Given the description of an element on the screen output the (x, y) to click on. 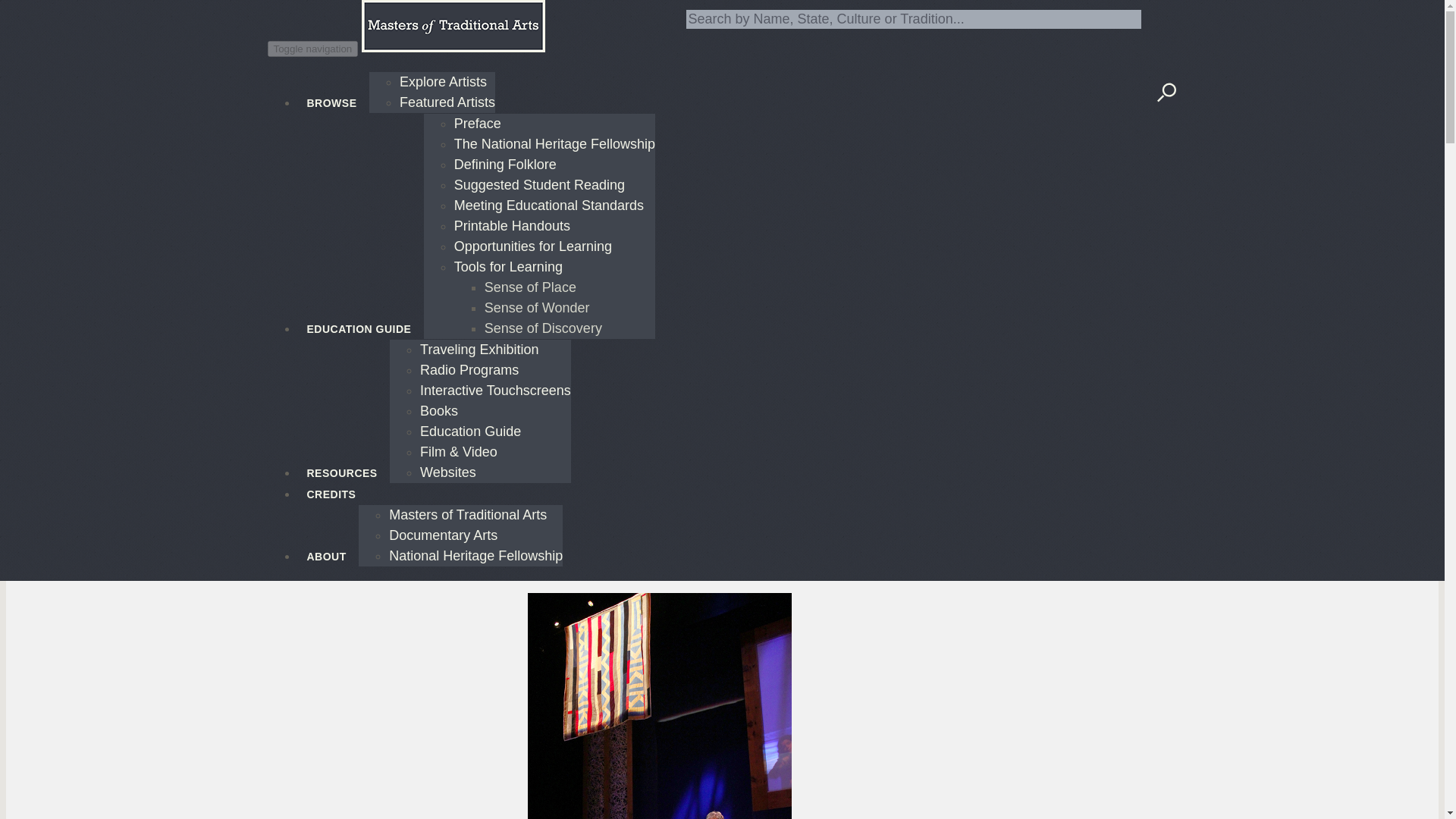
Printable Handouts (512, 225)
National Heritage Fellowship (475, 555)
Toggle navigation (312, 48)
Opportunities for Learning (532, 246)
The National Heritage Fellowship (554, 143)
ABOUT (327, 547)
Sense of Discovery (543, 328)
Websites (448, 472)
Education Guide (470, 431)
CREDITS (331, 484)
Sense of Place (530, 287)
Masters of Traditional Arts (467, 514)
Explore Artists (442, 81)
EDUCATION GUIDE (360, 319)
Tools for Learning (508, 266)
